Given the description of an element on the screen output the (x, y) to click on. 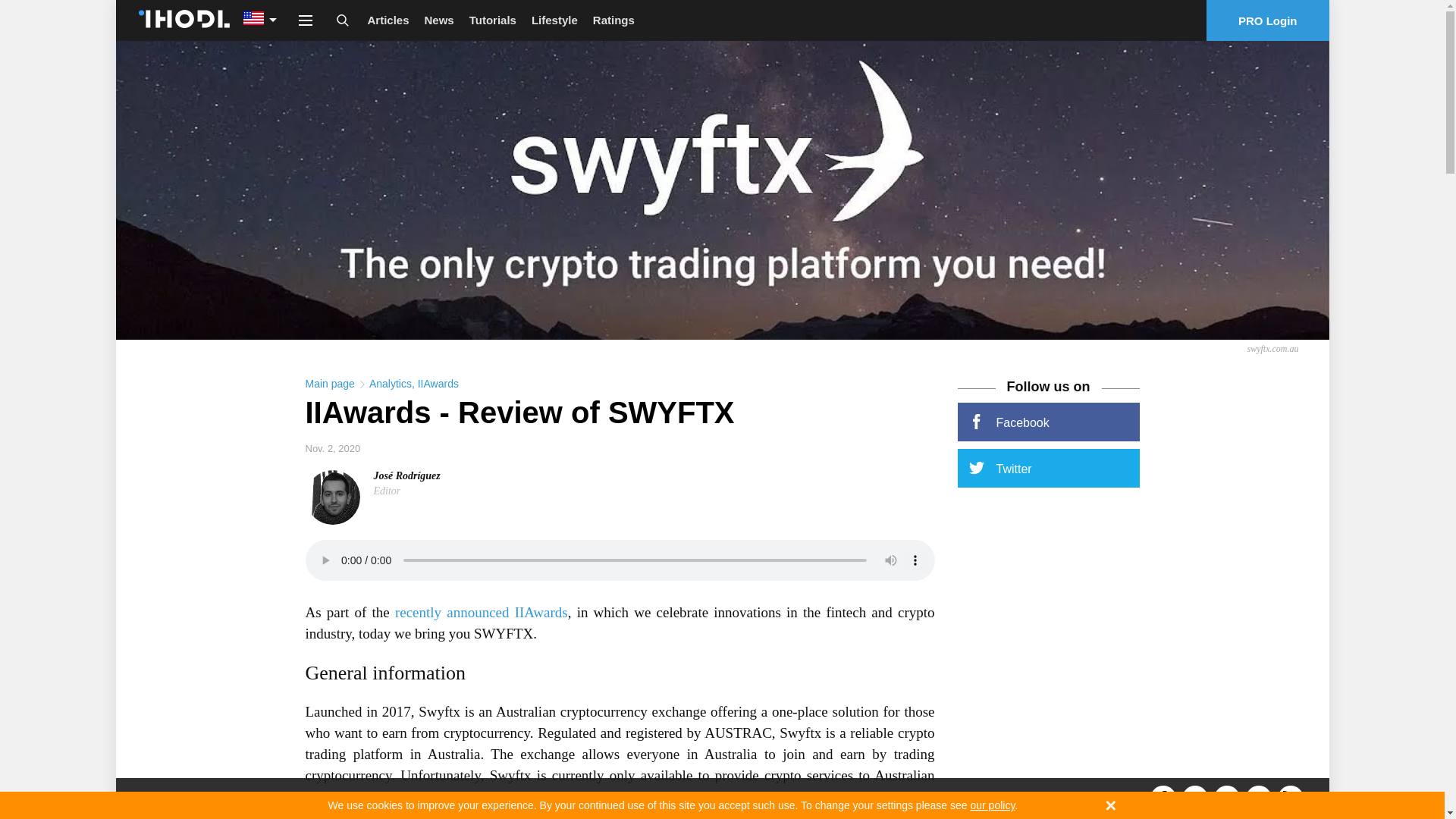
Ratings (613, 20)
IIAwards (437, 383)
PRO Login (1268, 20)
Tutorials (492, 20)
Editor (386, 490)
Lifestyle (554, 20)
recently announced (451, 611)
News (438, 20)
Analytics (390, 383)
IIAwards (541, 611)
our policy (991, 805)
Main page (328, 383)
Articles (387, 20)
